Given the description of an element on the screen output the (x, y) to click on. 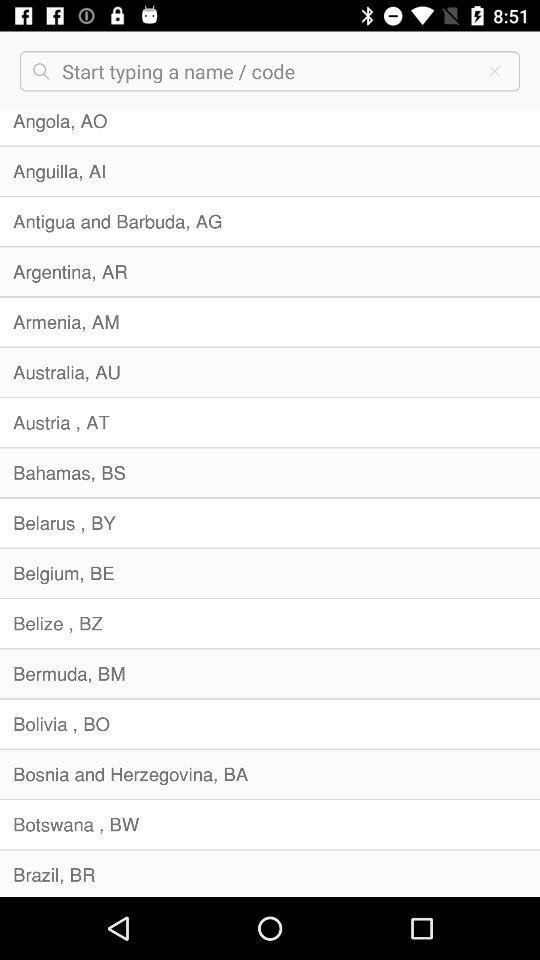
close (494, 71)
